Given the description of an element on the screen output the (x, y) to click on. 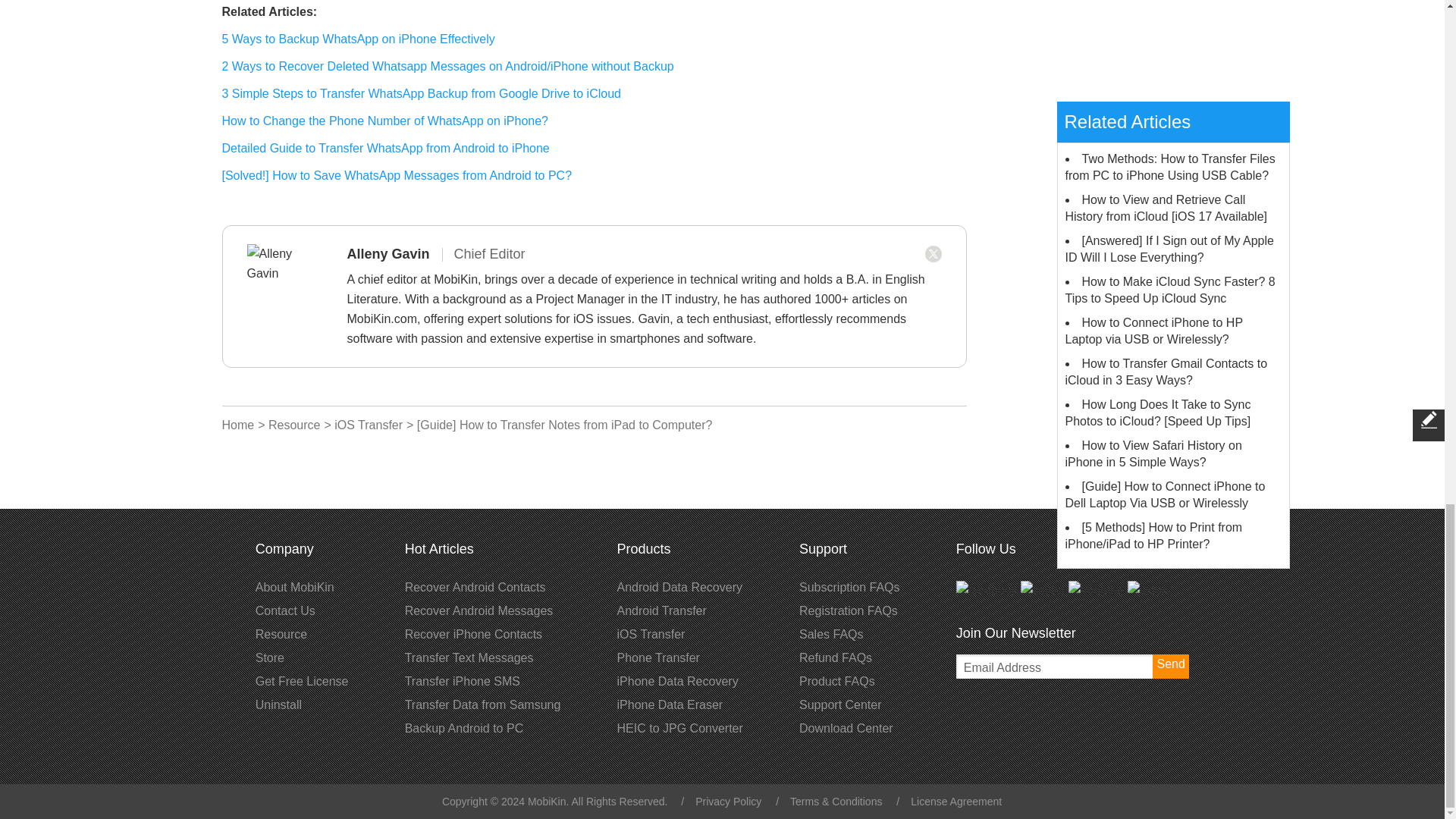
Email Address (1072, 666)
Email Address (1072, 666)
